Given the description of an element on the screen output the (x, y) to click on. 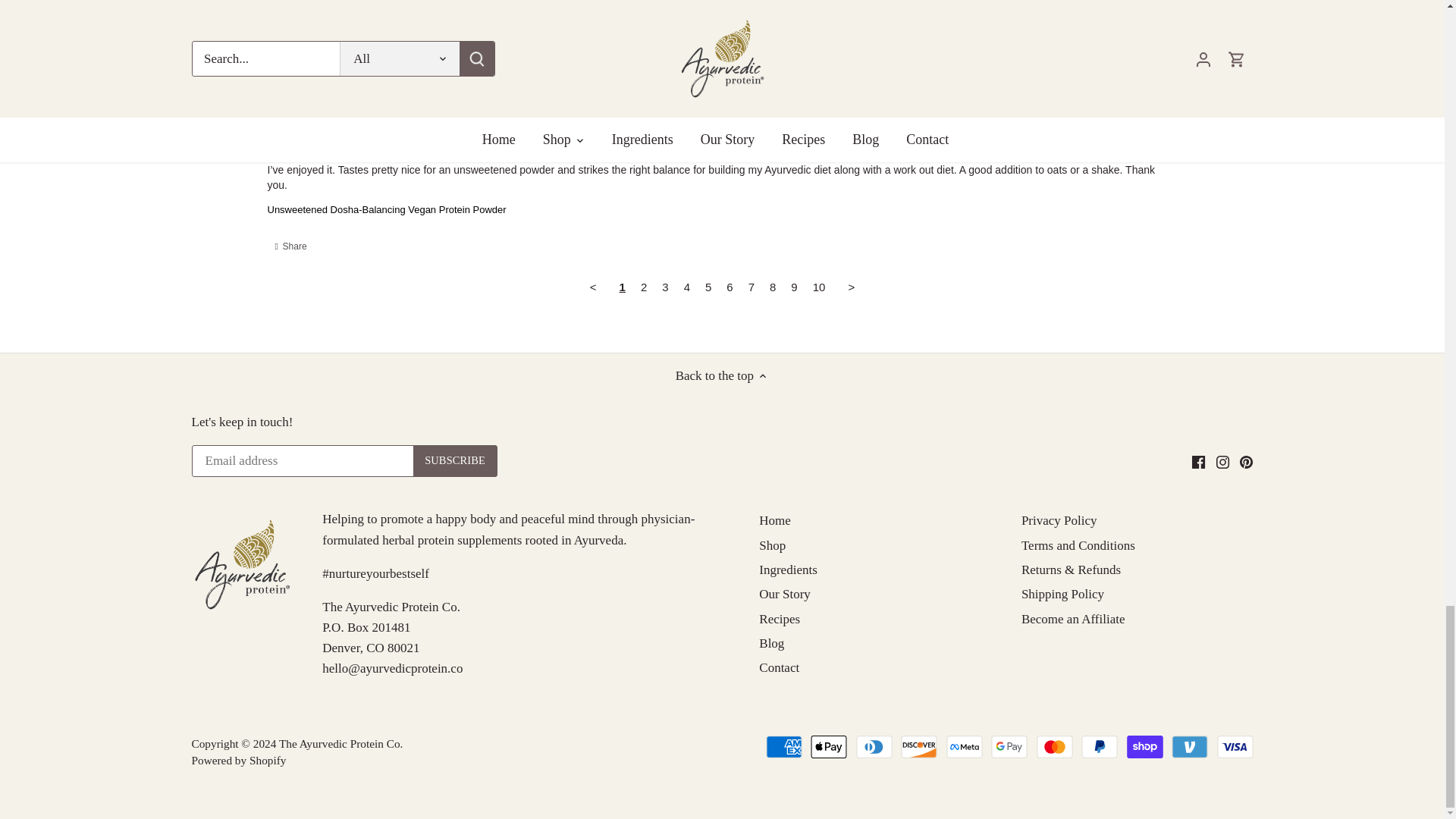
American Express (783, 746)
Pinterest (1246, 461)
Subscribe (455, 460)
Facebook (1198, 461)
Instagram (1221, 461)
